Given the description of an element on the screen output the (x, y) to click on. 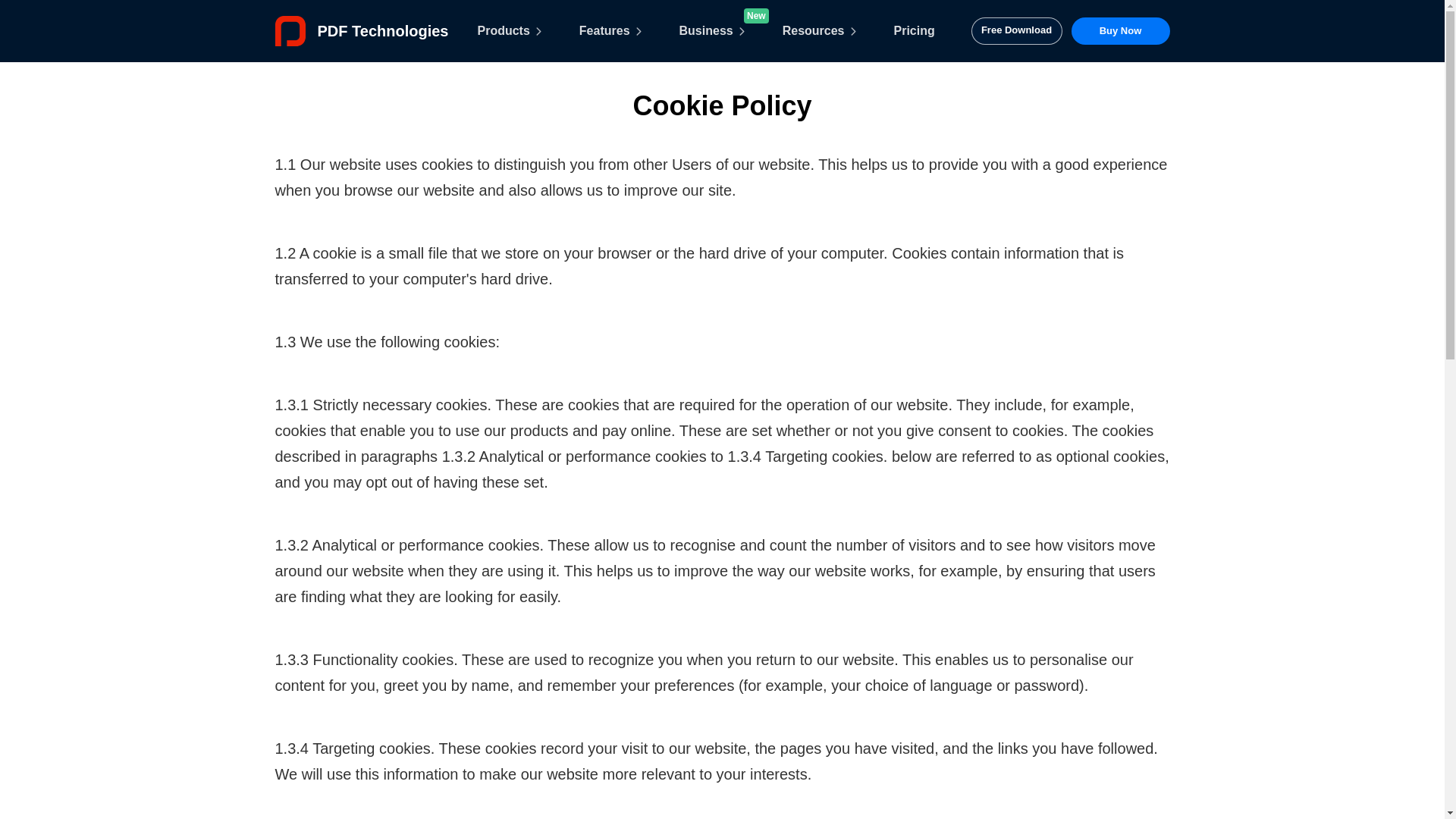
PDF Technologies (361, 30)
